Given the description of an element on the screen output the (x, y) to click on. 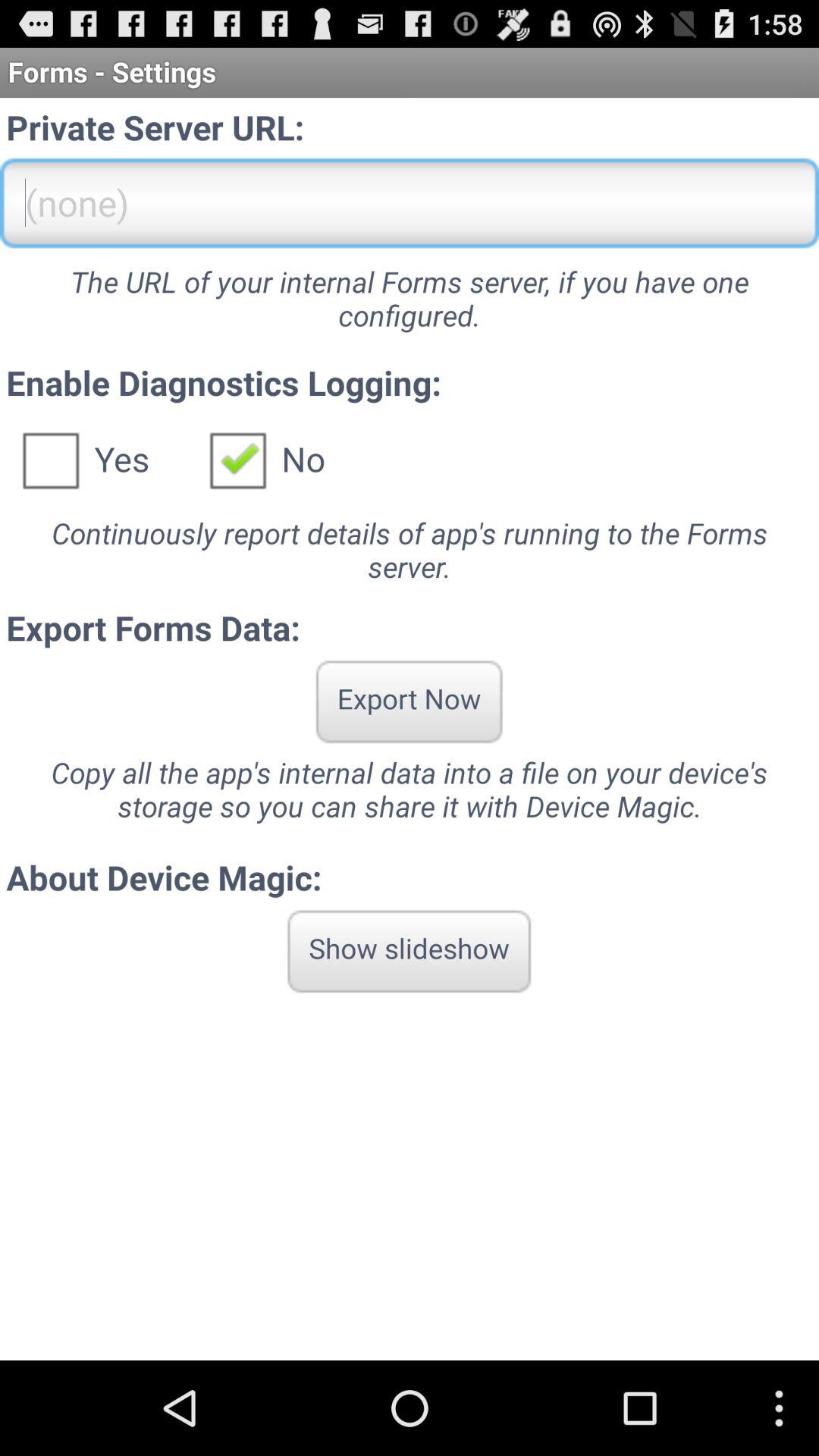
launch show slideshow (408, 951)
